Given the description of an element on the screen output the (x, y) to click on. 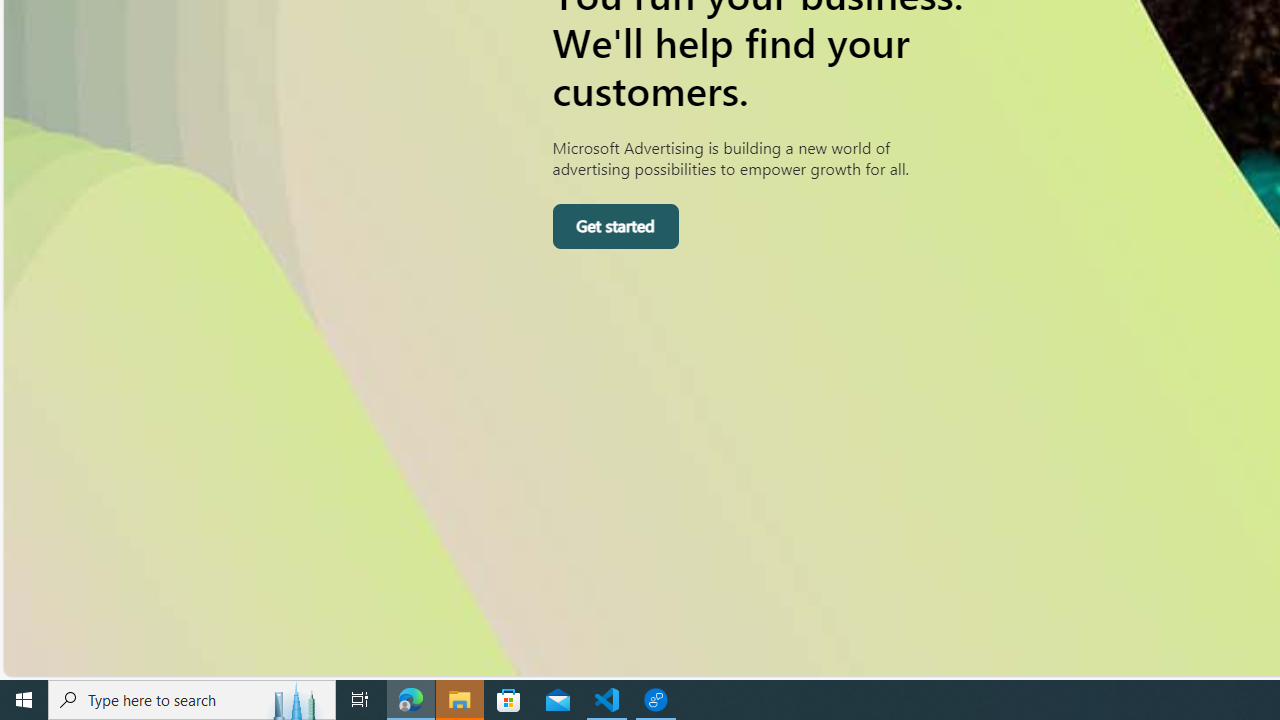
Get started (614, 226)
